Given the description of an element on the screen output the (x, y) to click on. 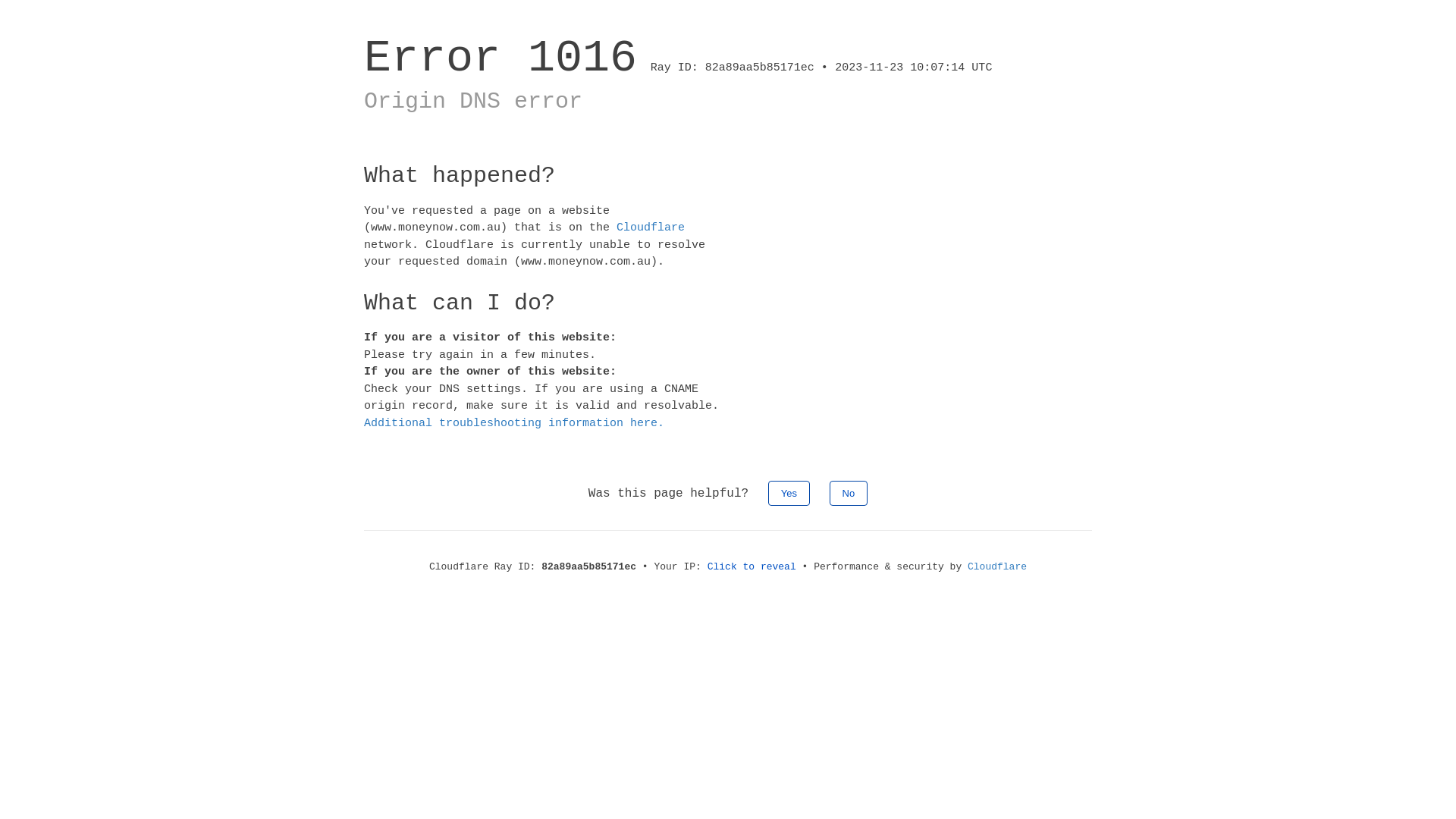
Cloudflare Element type: text (650, 227)
No Element type: text (848, 492)
Additional troubleshooting information here. Element type: text (514, 423)
Click to reveal Element type: text (751, 566)
Cloudflare Element type: text (996, 566)
Yes Element type: text (788, 492)
